Given the description of an element on the screen output the (x, y) to click on. 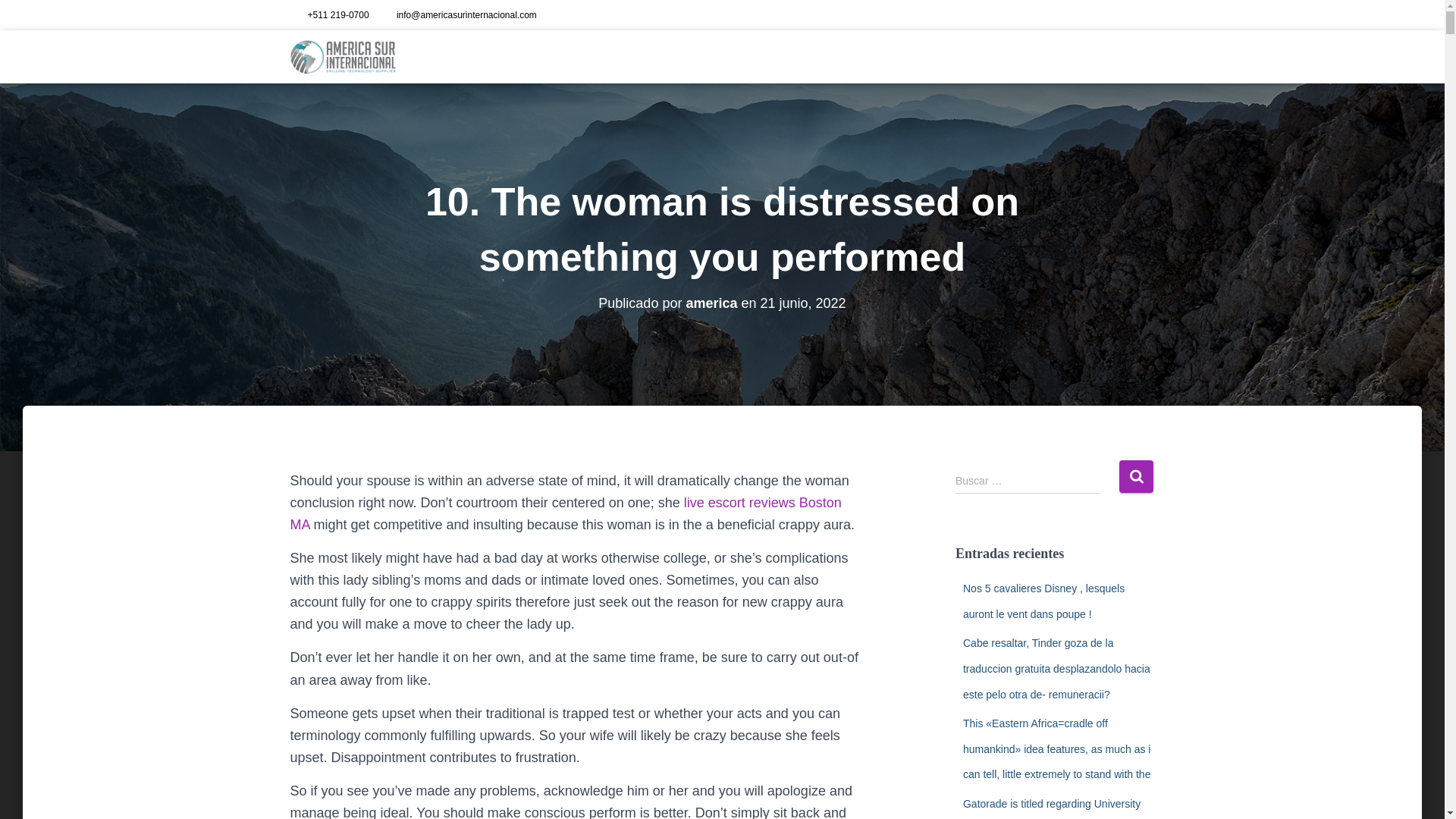
Buscar (1136, 476)
live escort reviews Boston MA (565, 513)
INICIO (850, 56)
CONTACTO (1117, 56)
america (710, 303)
INICIO (850, 56)
Buscar (1136, 476)
NOSOTROS (912, 56)
America Sur Internacional (343, 56)
CONTACTO (1117, 56)
NOSOTROS (912, 56)
Buscar (1136, 476)
